Given the description of an element on the screen output the (x, y) to click on. 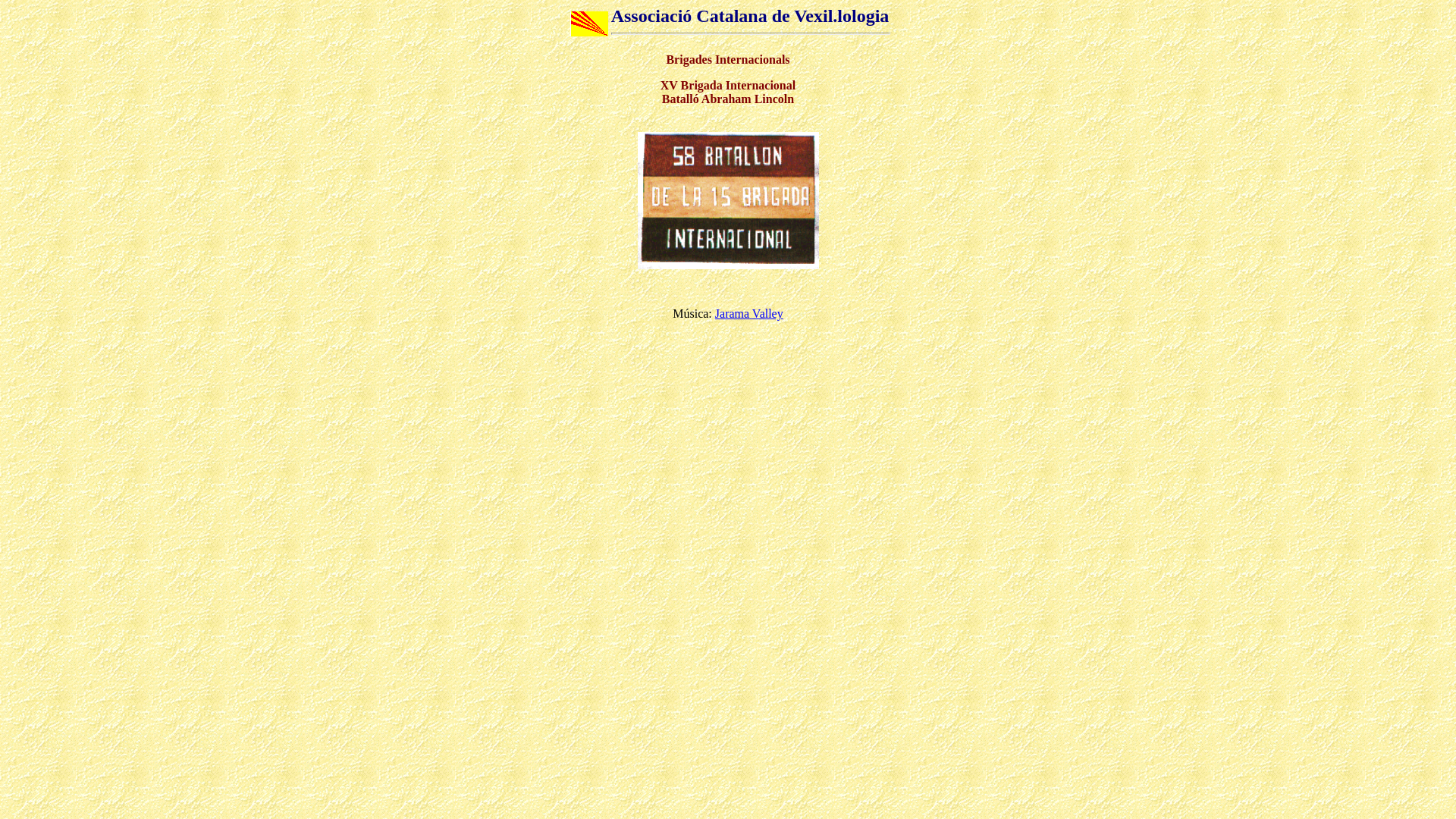
Jarama Valley Element type: text (749, 313)
